Given the description of an element on the screen output the (x, y) to click on. 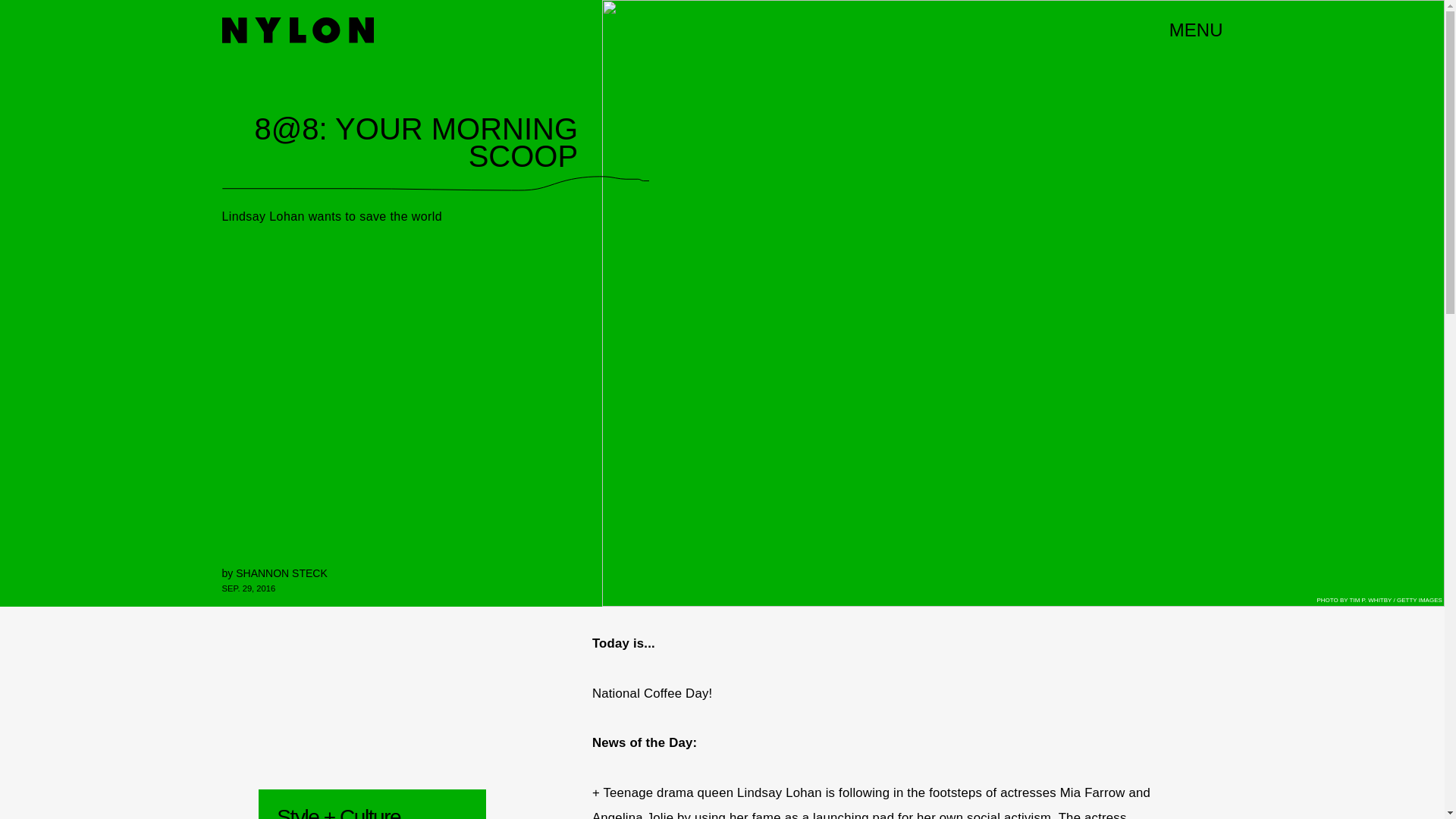
SHANNON STECK (281, 573)
Nylon (296, 30)
